Given the description of an element on the screen output the (x, y) to click on. 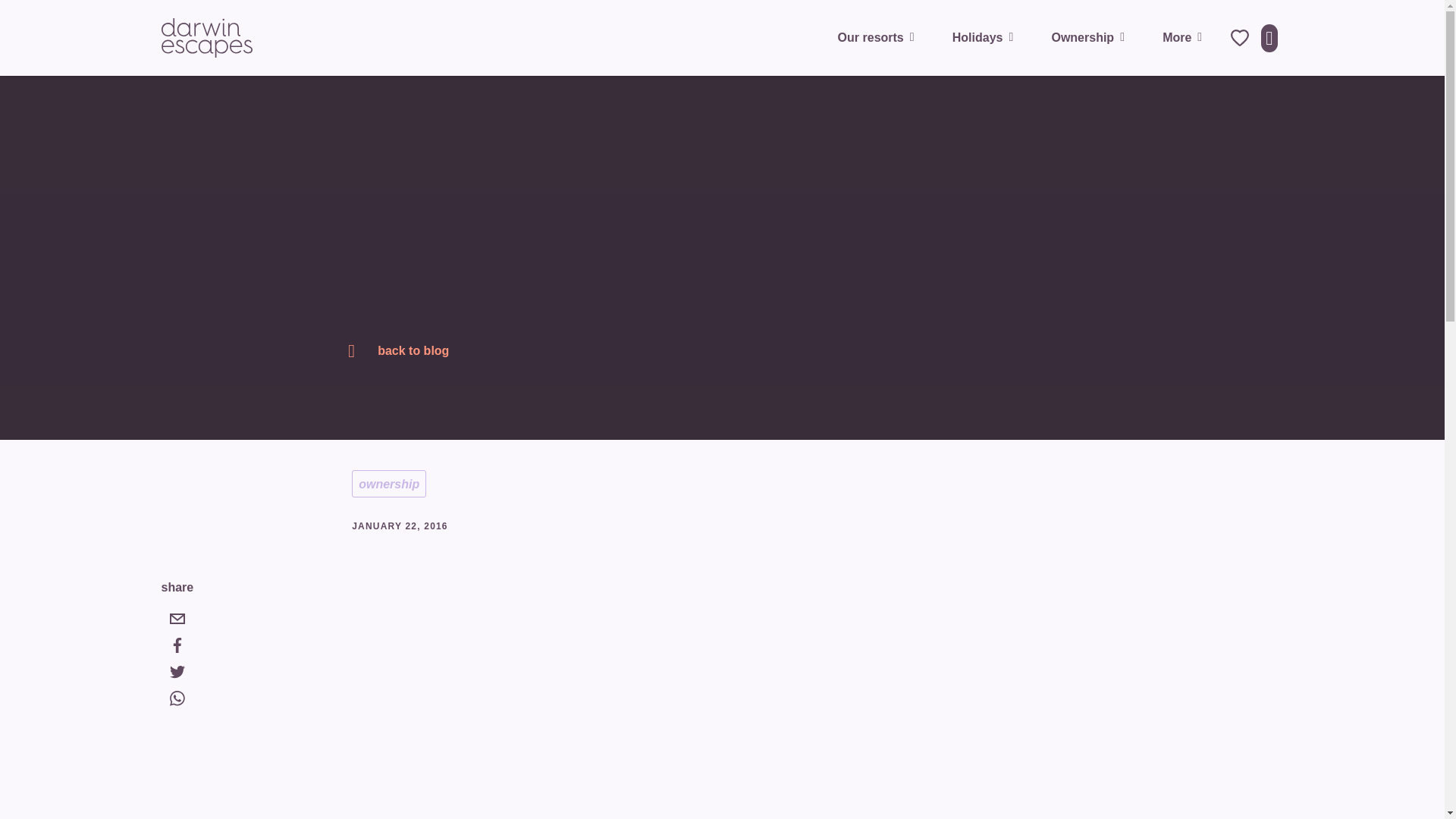
Our resorts (879, 37)
More (1185, 37)
